Given the description of an element on the screen output the (x, y) to click on. 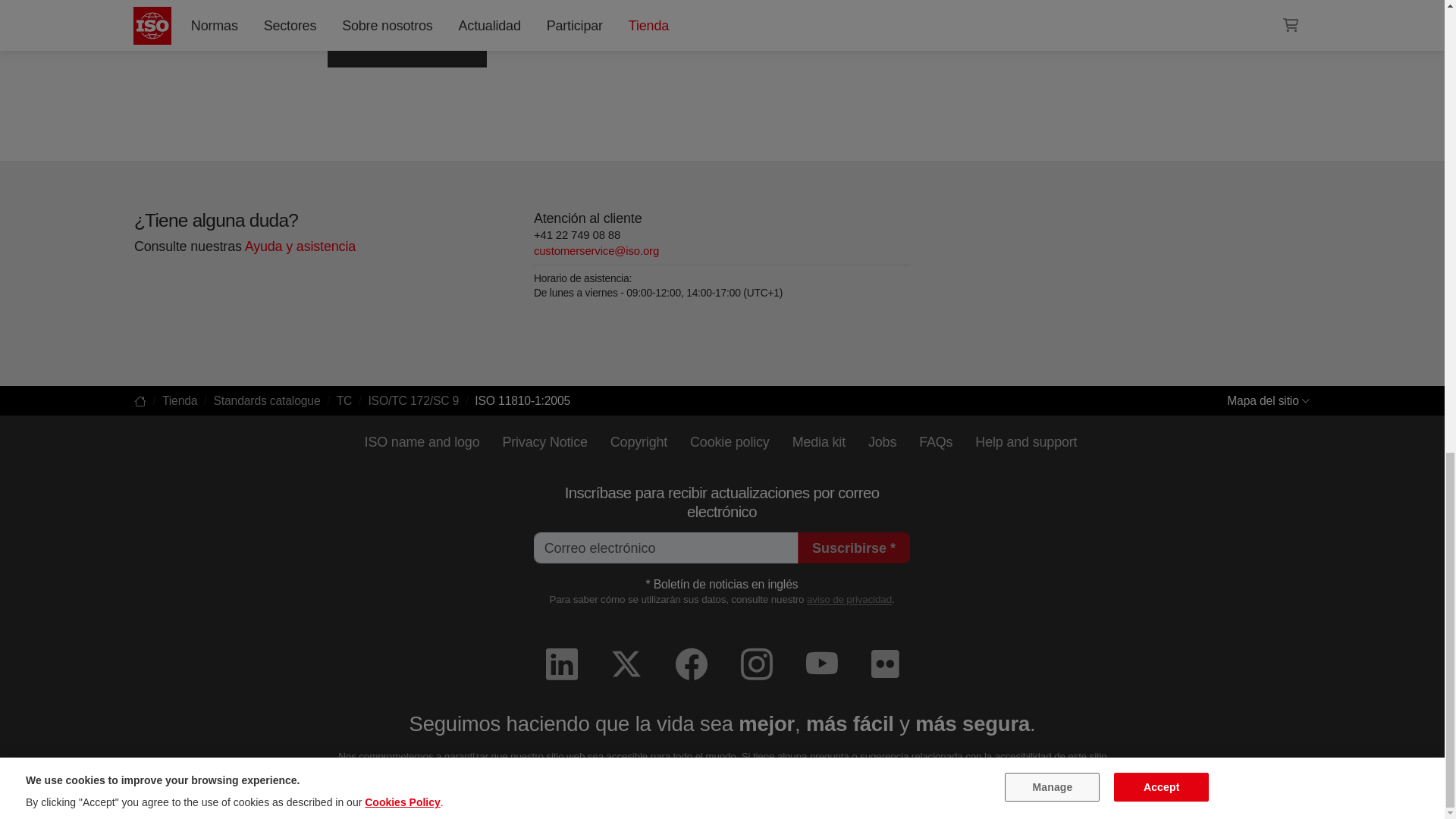
ISO 11810:2002 (199, 17)
